Given the description of an element on the screen output the (x, y) to click on. 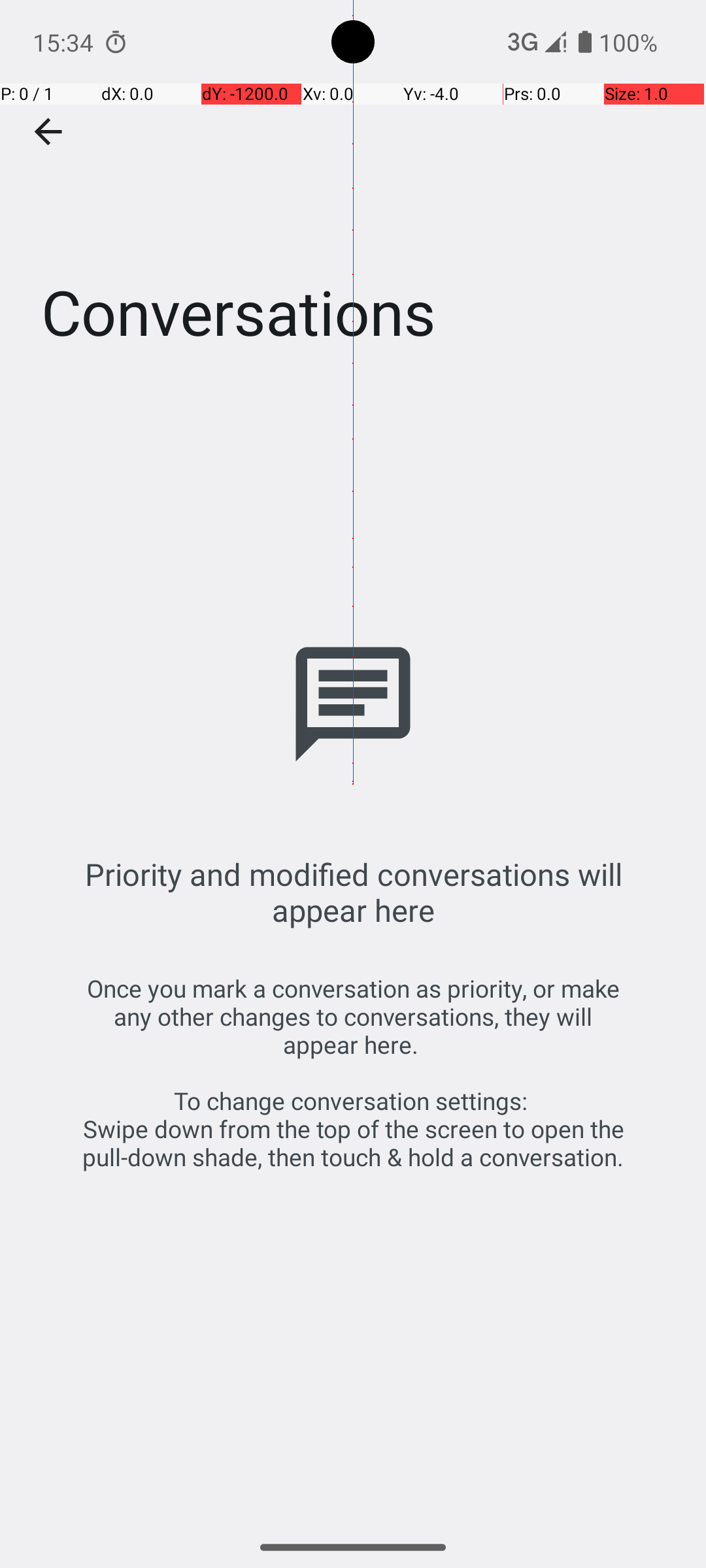
Priority and modified conversations will appear here Element type: android.widget.TextView (352, 891)
Once you mark a conversation as priority, or make any other changes to conversations, they will appear here. 

To change conversation settings: 
Swipe down from the top of the screen to open the pull-down shade, then touch & hold a conversation. Element type: android.widget.TextView (352, 1072)
